Given the description of an element on the screen output the (x, y) to click on. 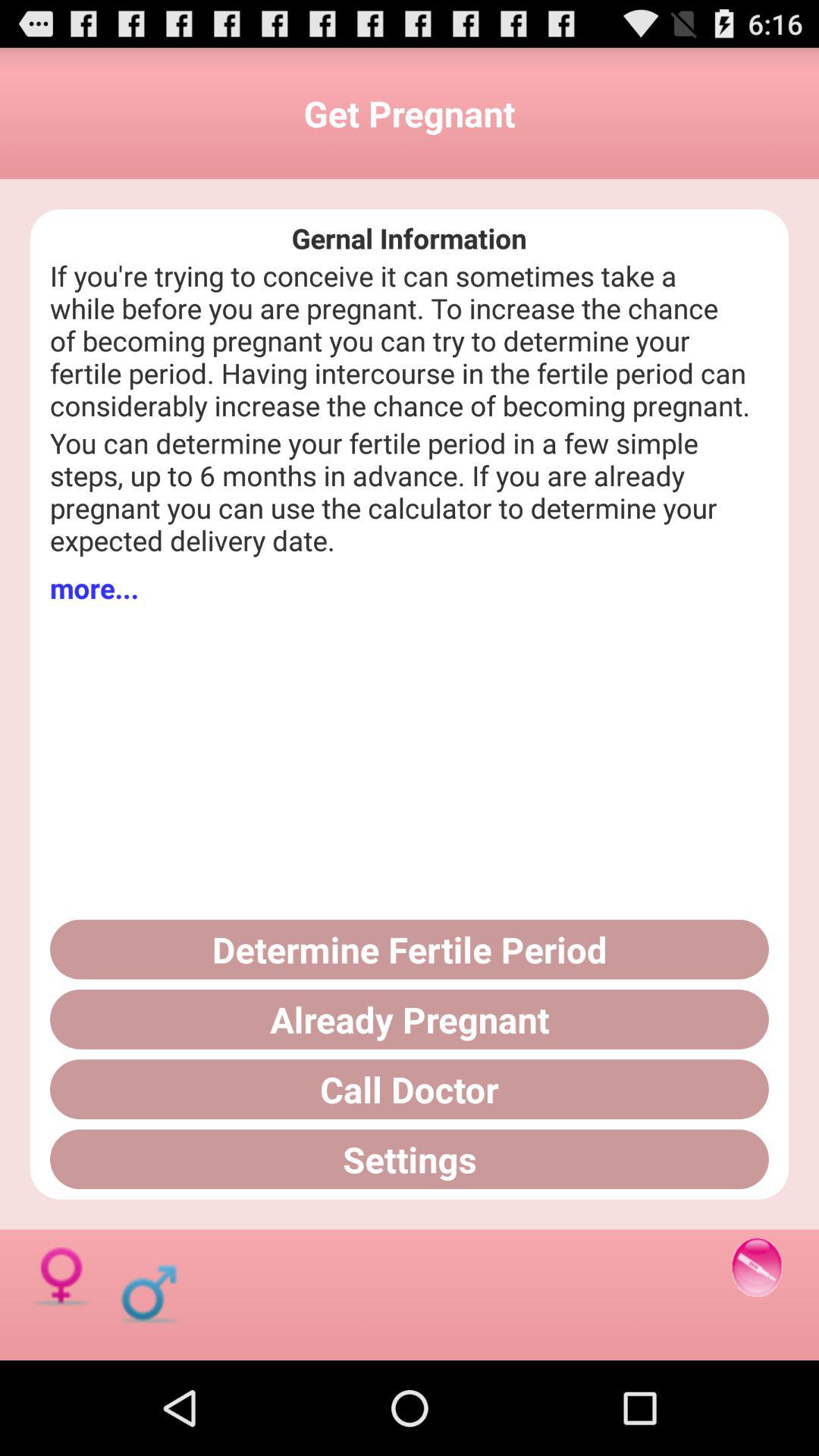
jump until the call doctor (409, 1089)
